Given the description of an element on the screen output the (x, y) to click on. 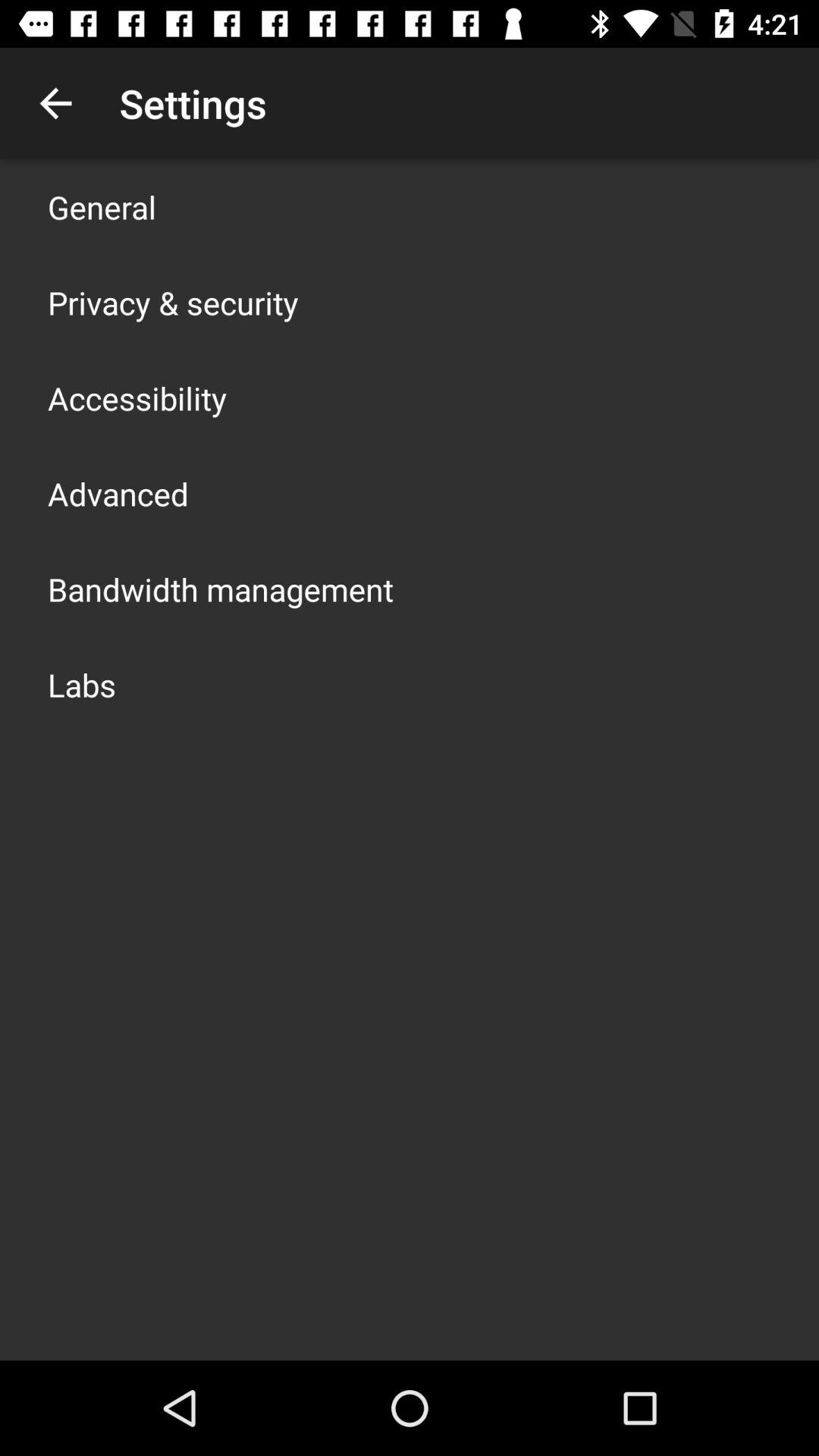
open accessibility (136, 397)
